Given the description of an element on the screen output the (x, y) to click on. 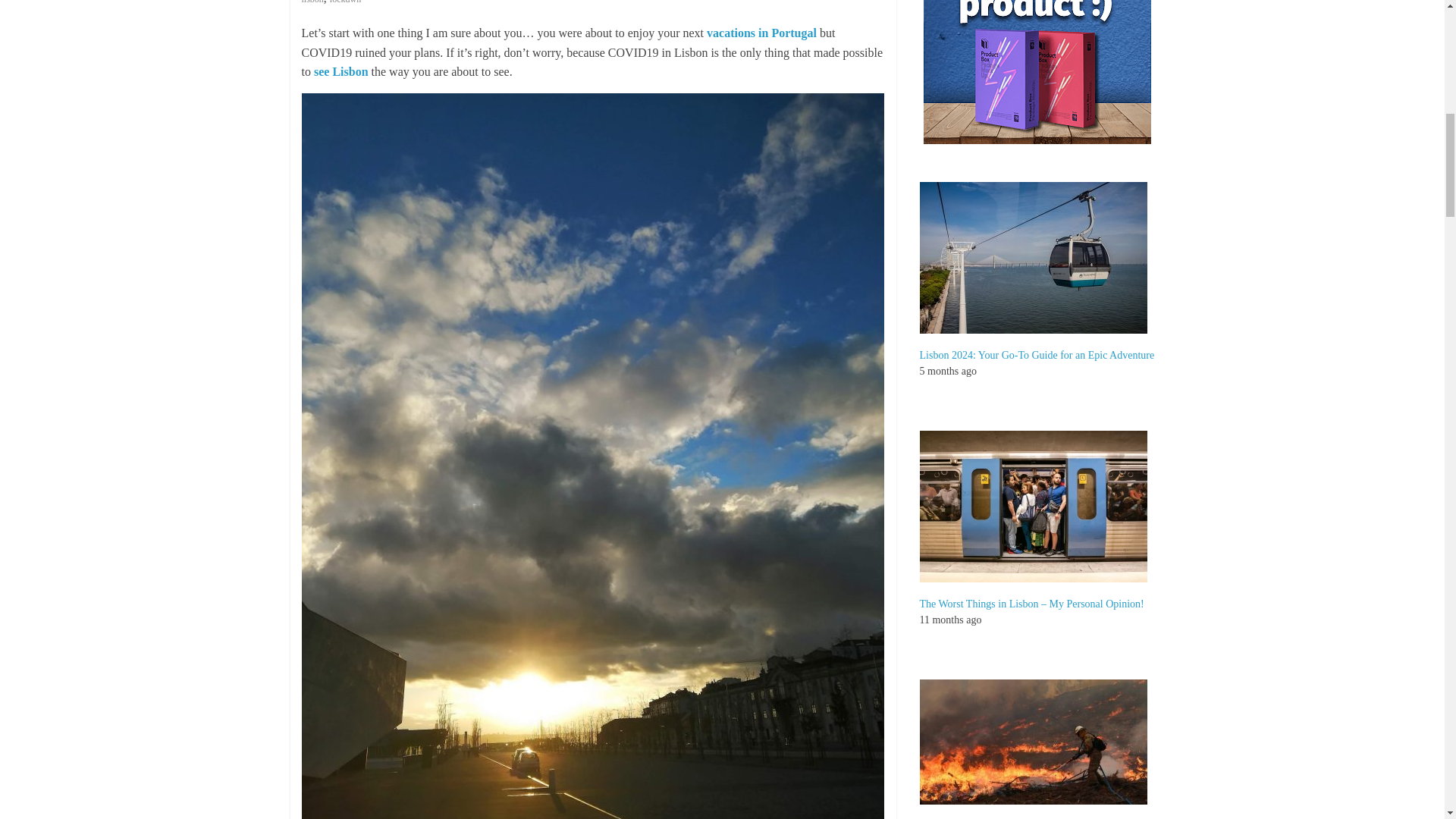
lockdwn (345, 2)
see Lisbon (341, 71)
vacations in Portugal (761, 32)
